Given the description of an element on the screen output the (x, y) to click on. 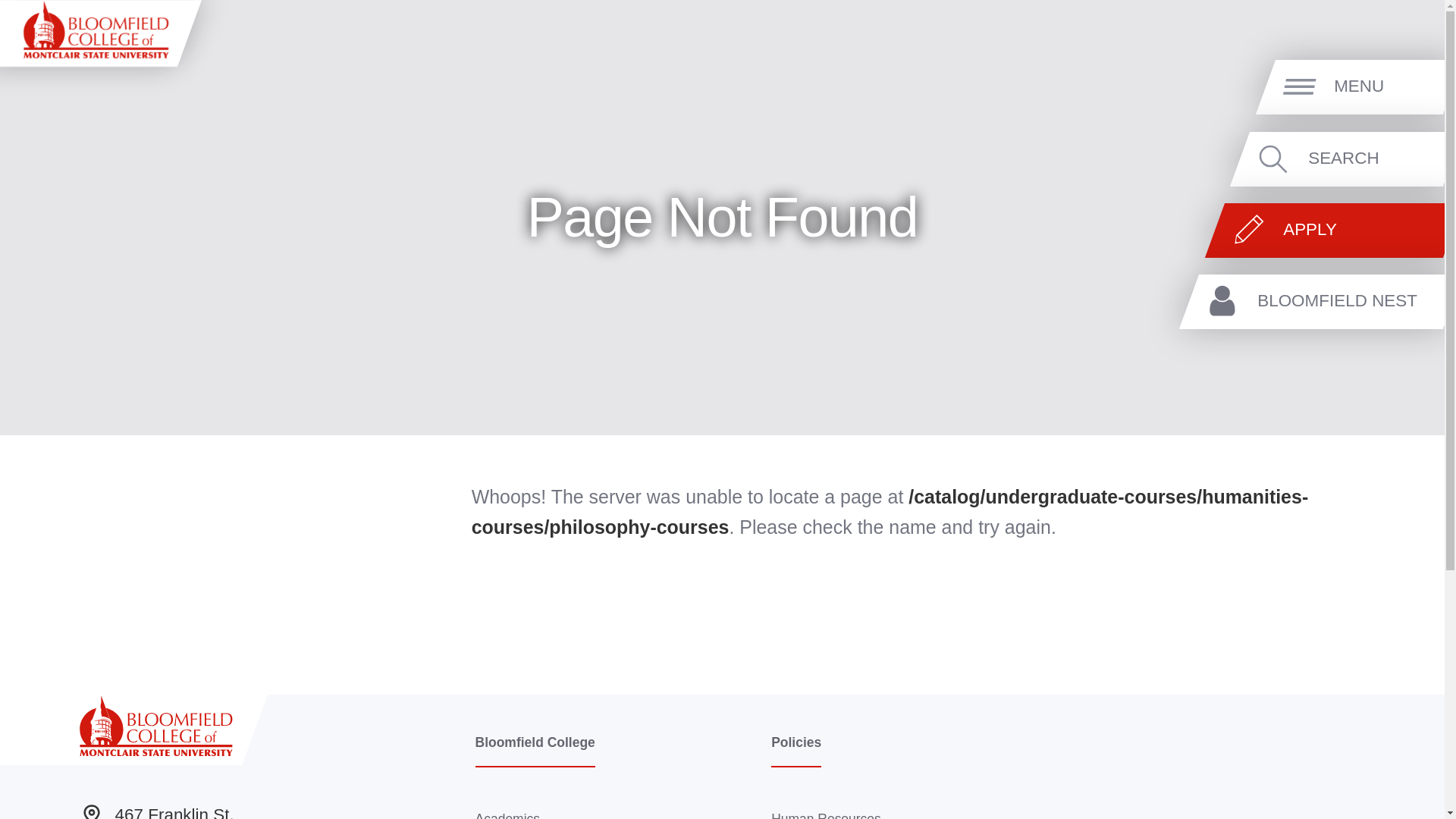
SEARCH (1371, 158)
MENU (1384, 86)
BLOOMFIELD NEST (1346, 301)
APPLY (1358, 230)
